Given the description of an element on the screen output the (x, y) to click on. 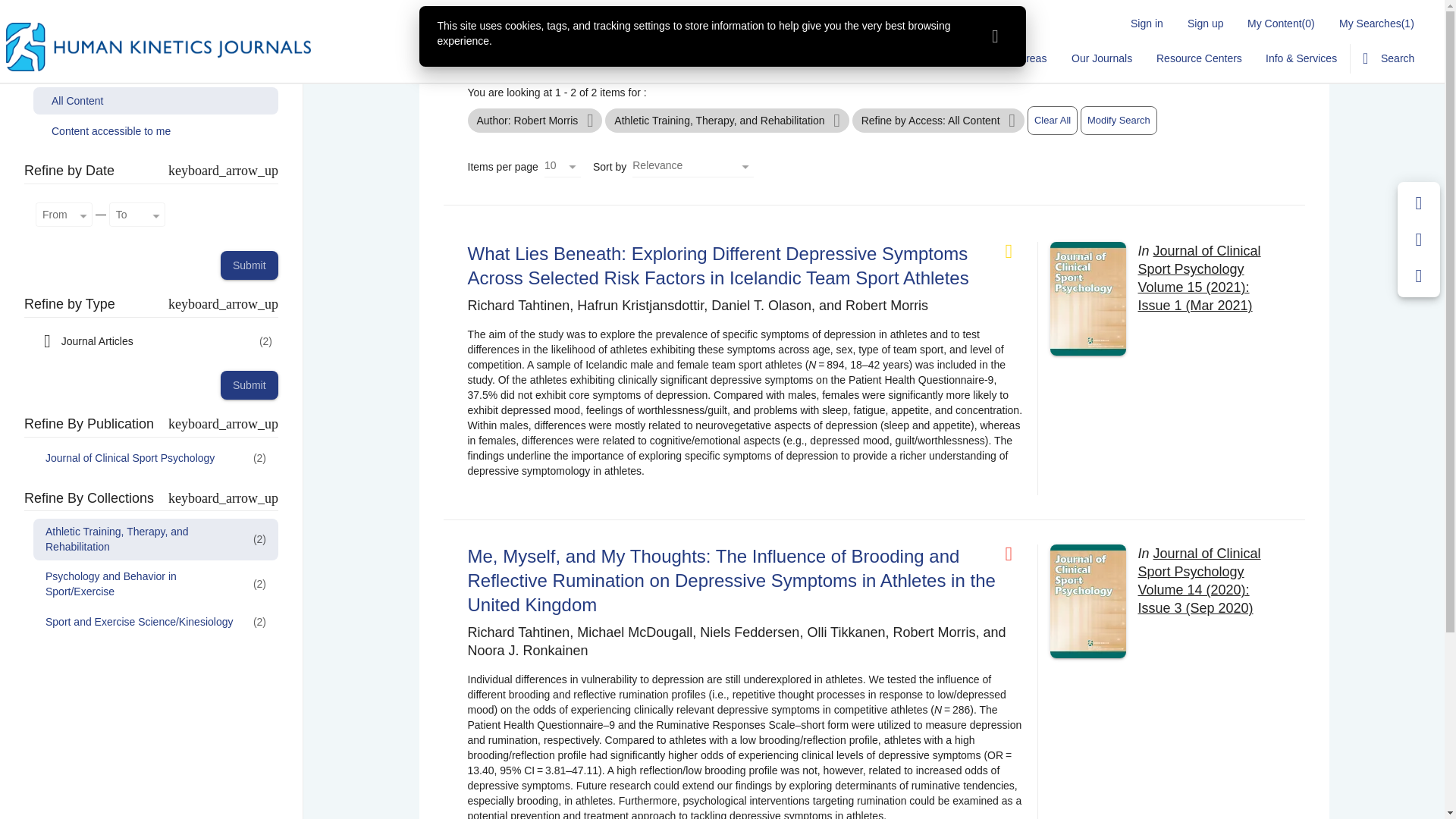
Browse (799, 58)
Resource Centers (1198, 58)
Subscribe (933, 58)
About Us (863, 58)
Jump to Content (40, 8)
Save (1418, 203)
Sign up (1204, 23)
Home (743, 58)
Sign up (1204, 23)
Dismiss this warning (994, 36)
Restricted access (1015, 554)
Subject Areas (1013, 58)
Human Kinetics (158, 46)
Open access (1015, 251)
Email Page (1418, 239)
